Given the description of an element on the screen output the (x, y) to click on. 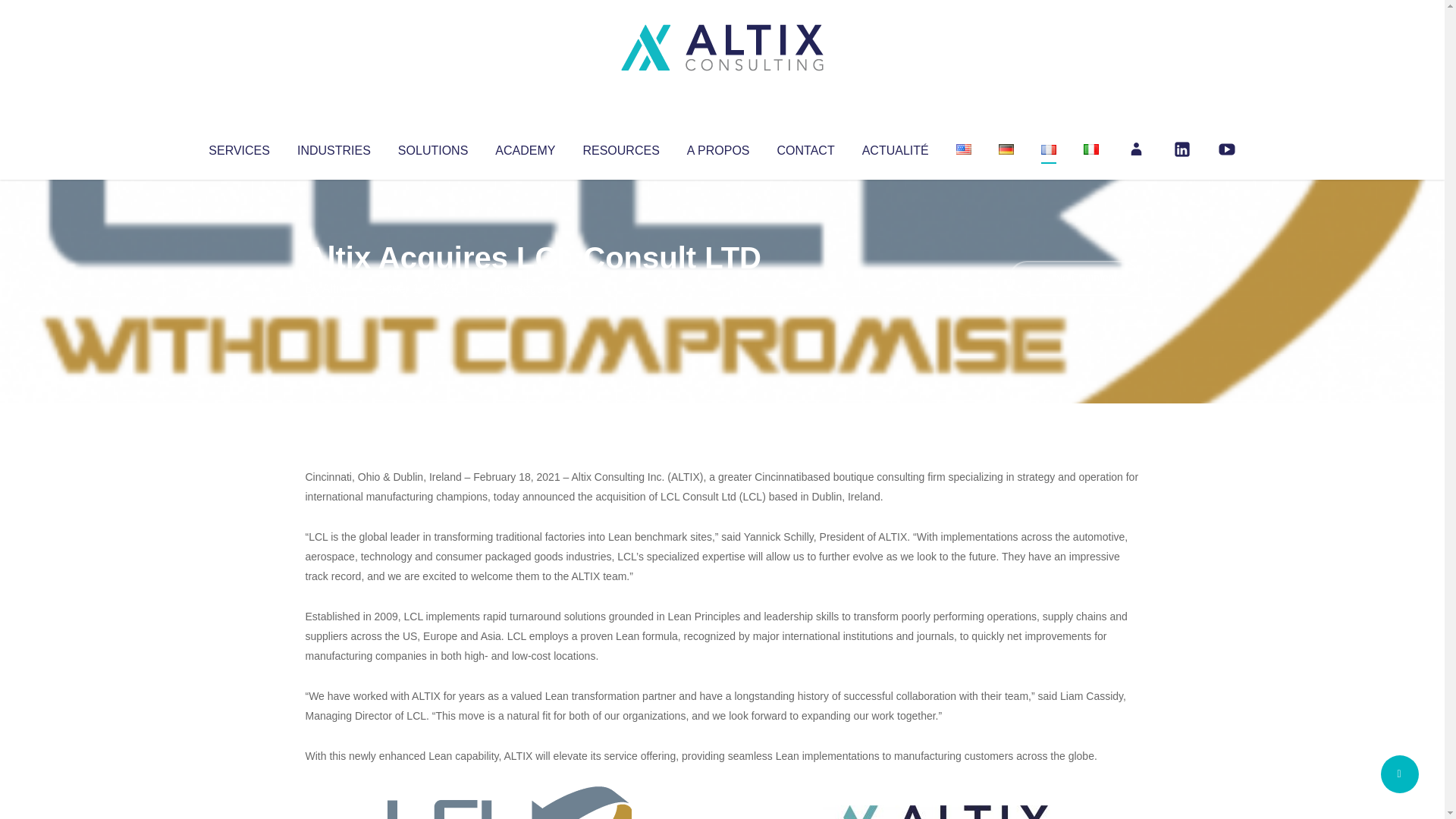
ACADEMY (524, 146)
A PROPOS (718, 146)
RESOURCES (620, 146)
Uncategorized (530, 287)
Altix (333, 287)
No Comments (1073, 278)
SOLUTIONS (432, 146)
SERVICES (238, 146)
INDUSTRIES (334, 146)
Articles par Altix (333, 287)
